Given the description of an element on the screen output the (x, y) to click on. 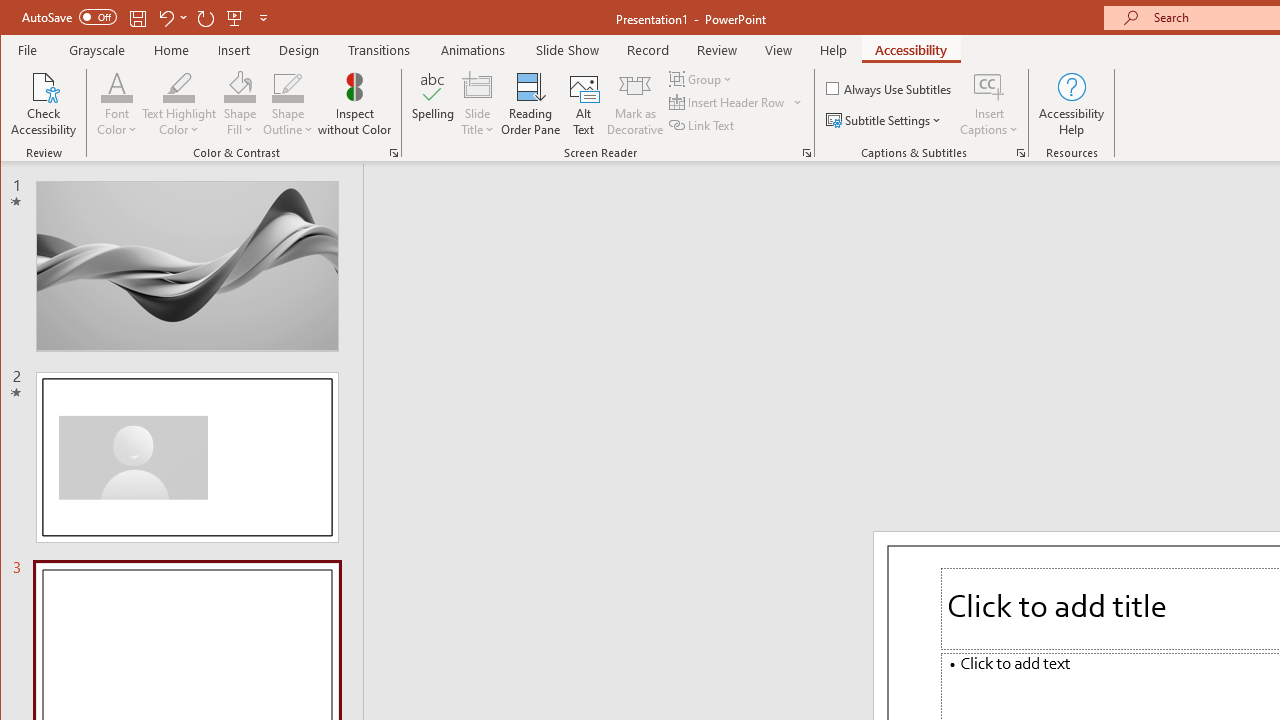
Group (701, 78)
Grayscale (97, 50)
Insert Header Row (728, 101)
Shape Fill (239, 104)
Spelling... (432, 104)
Shape Fill Orange, Accent 2 (239, 86)
Check Accessibility (43, 104)
Shape Outline (288, 104)
Text Highlight Color (178, 104)
